Given the description of an element on the screen output the (x, y) to click on. 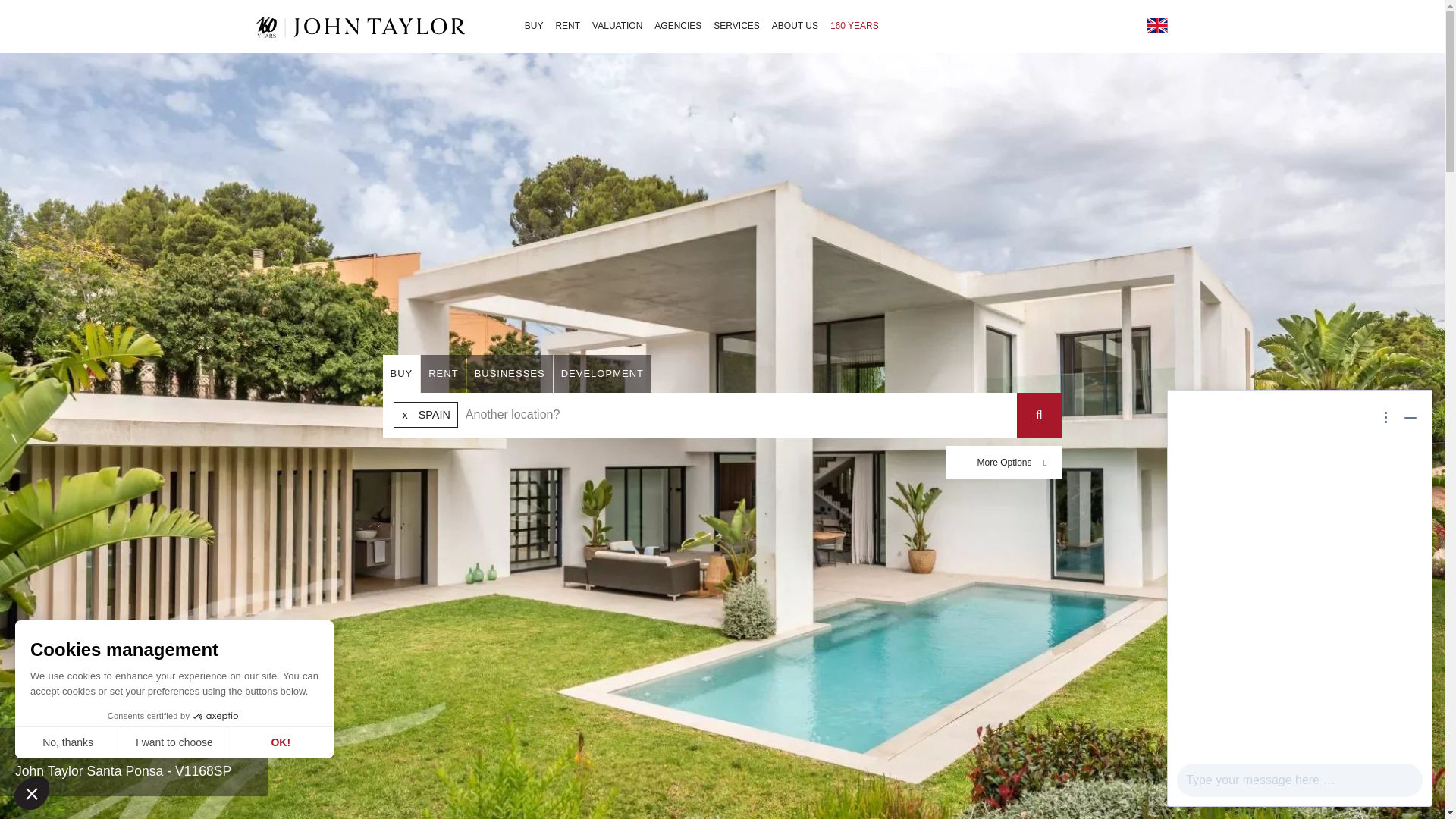
0 (106, 767)
John Taylor (357, 25)
